Given the description of an element on the screen output the (x, y) to click on. 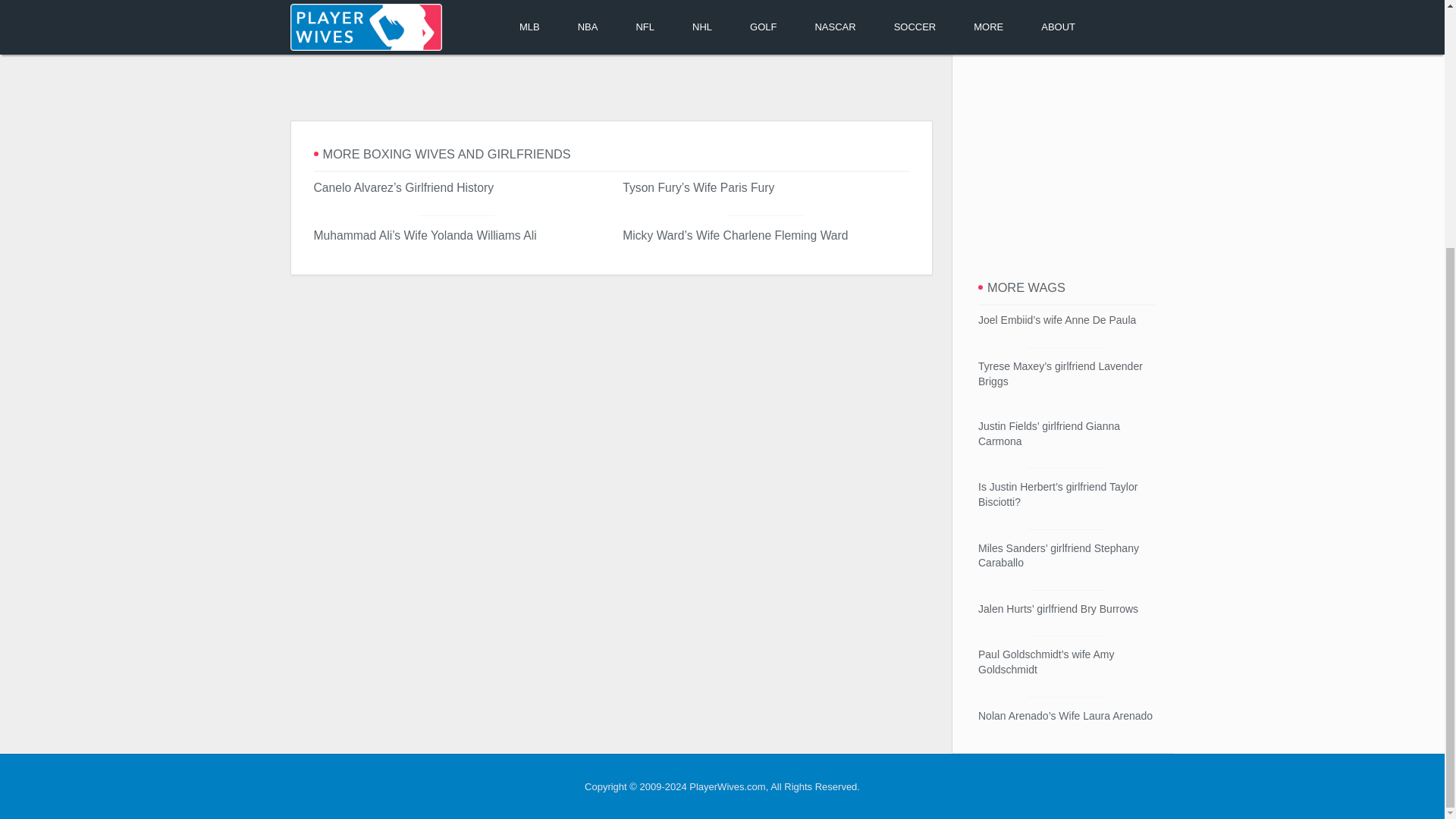
Advertisement (610, 79)
